Given the description of an element on the screen output the (x, y) to click on. 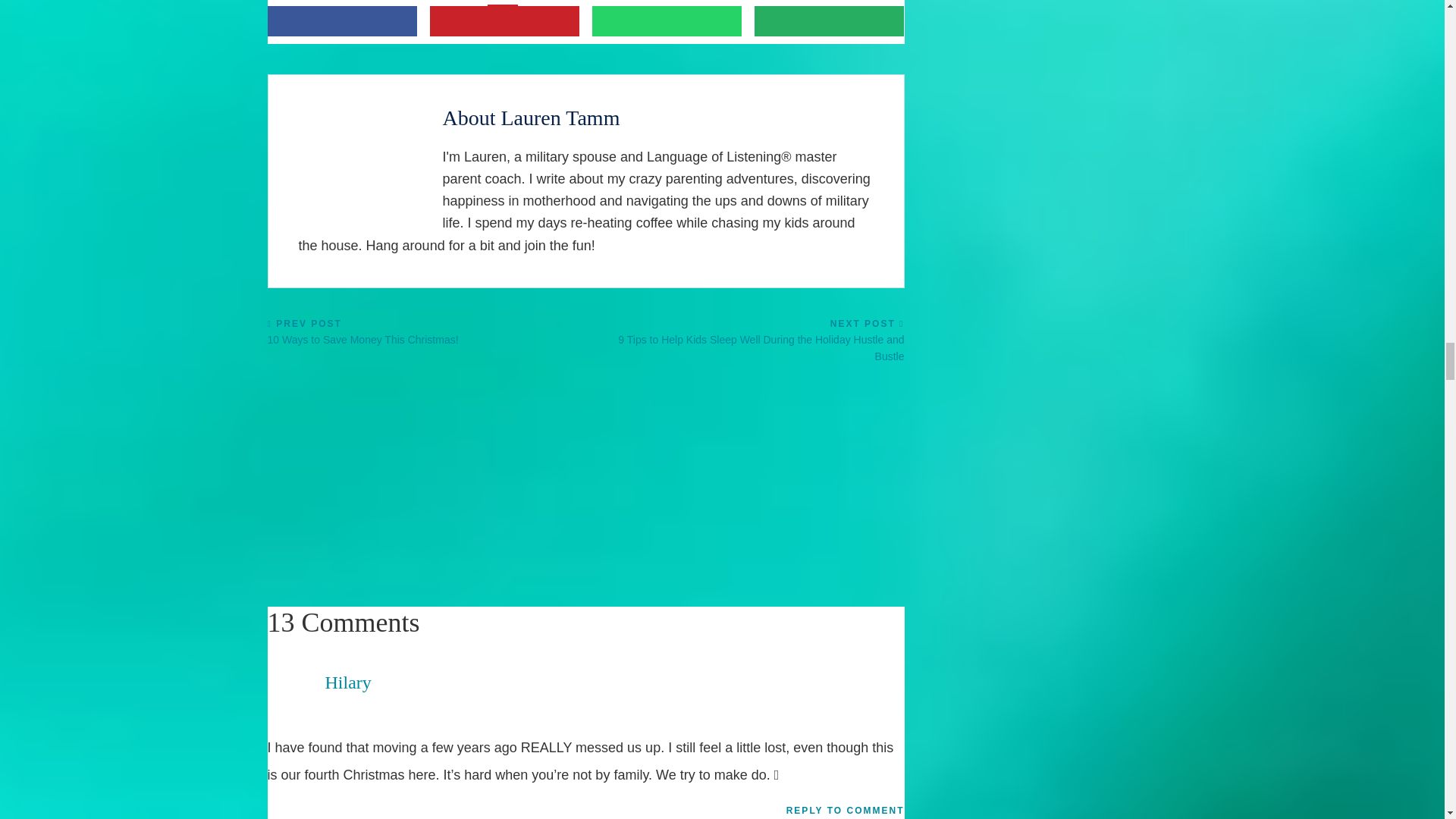
Share on Facebook (341, 20)
Save to Pinterest (504, 20)
Send over email (829, 20)
Share on WhatsApp (666, 20)
